Given the description of an element on the screen output the (x, y) to click on. 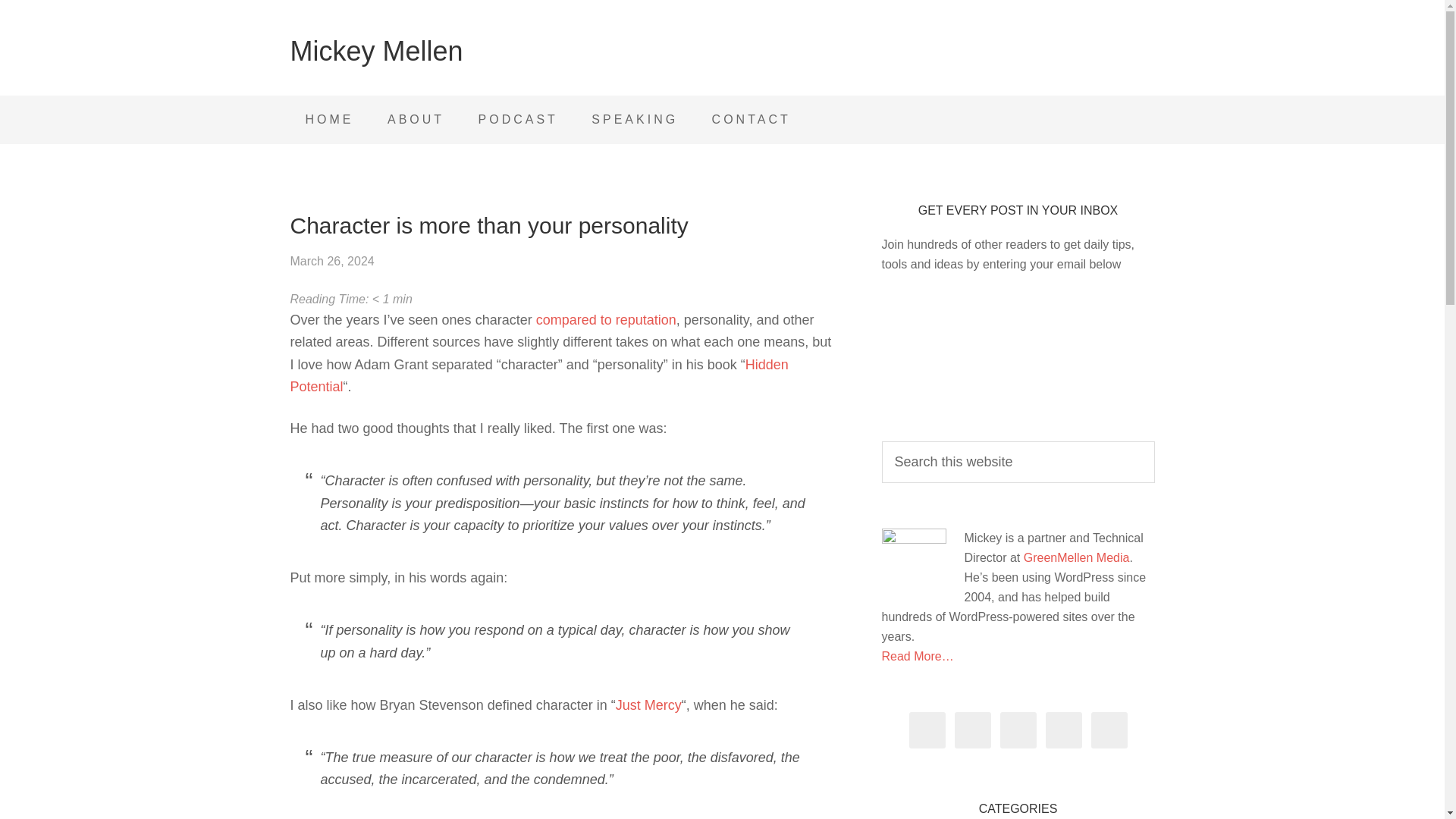
SPEAKING (634, 119)
PODCAST (518, 119)
GreenMellen Media (1076, 557)
CONTACT (751, 119)
compared to reputation (606, 319)
ABOUT (416, 119)
Mickey Mellen (376, 51)
Just Mercy (648, 704)
